Given the description of an element on the screen output the (x, y) to click on. 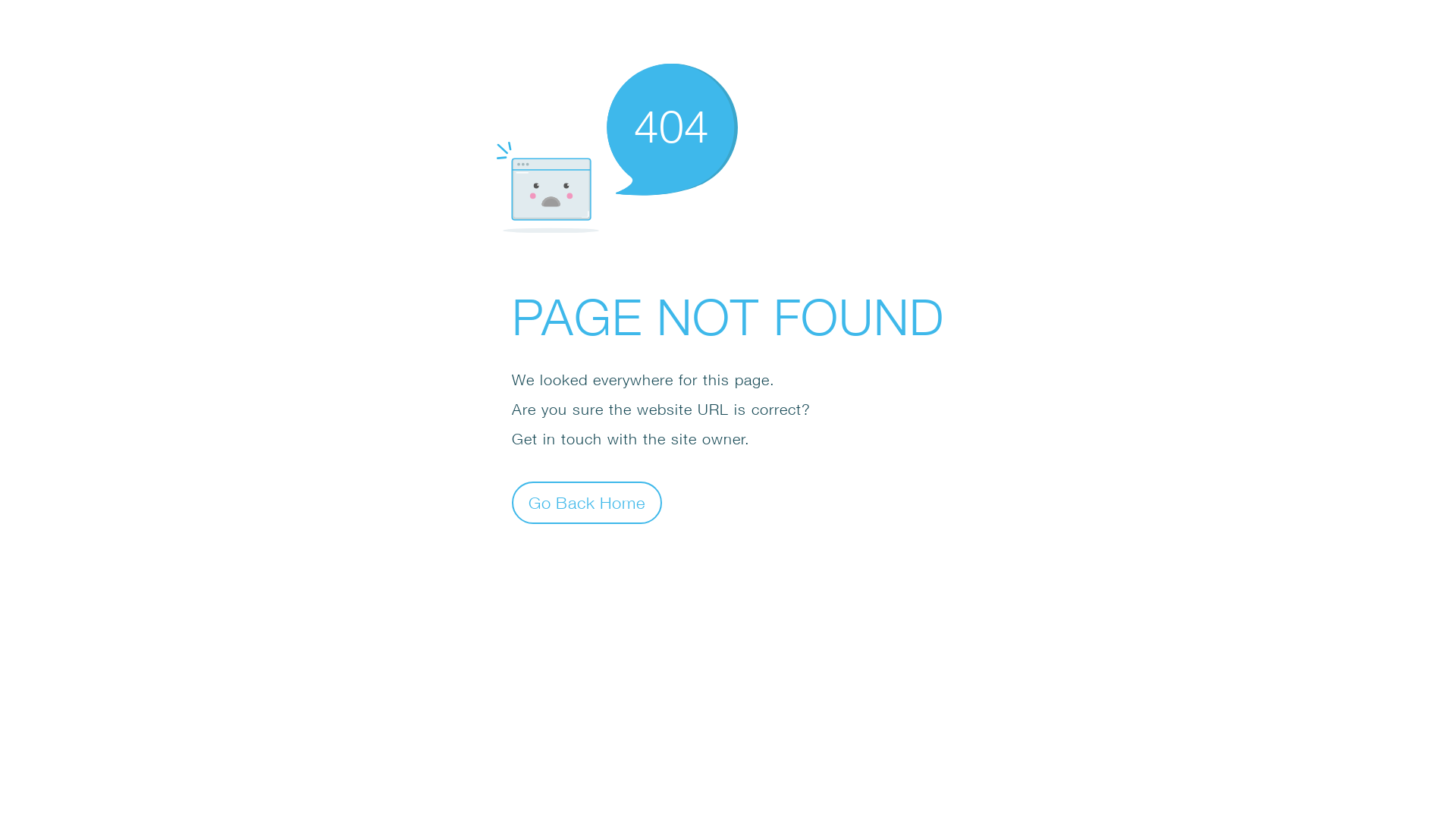
Go Back Home Element type: text (586, 502)
